Given the description of an element on the screen output the (x, y) to click on. 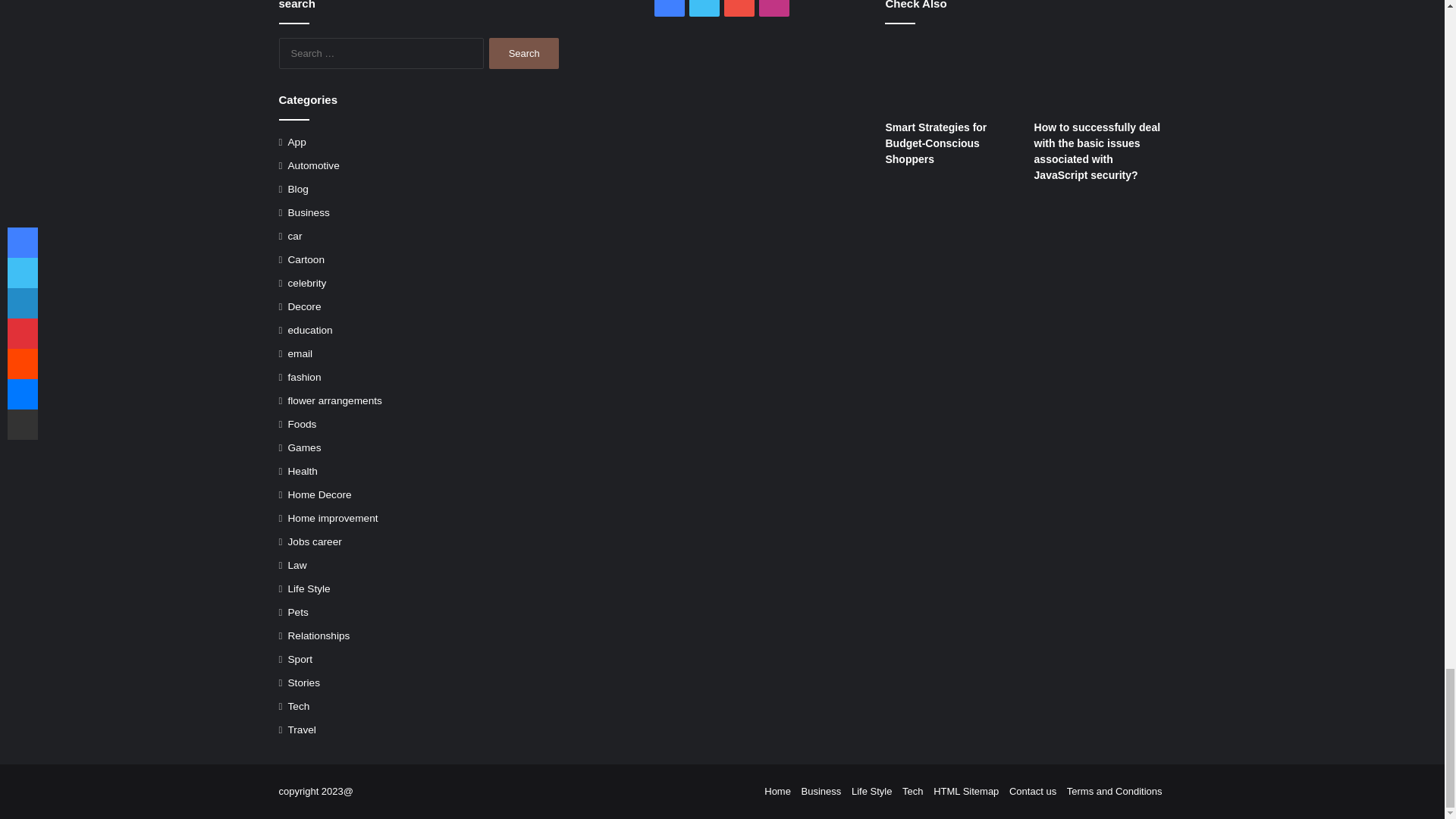
Search (524, 52)
Search (524, 52)
